Given the description of an element on the screen output the (x, y) to click on. 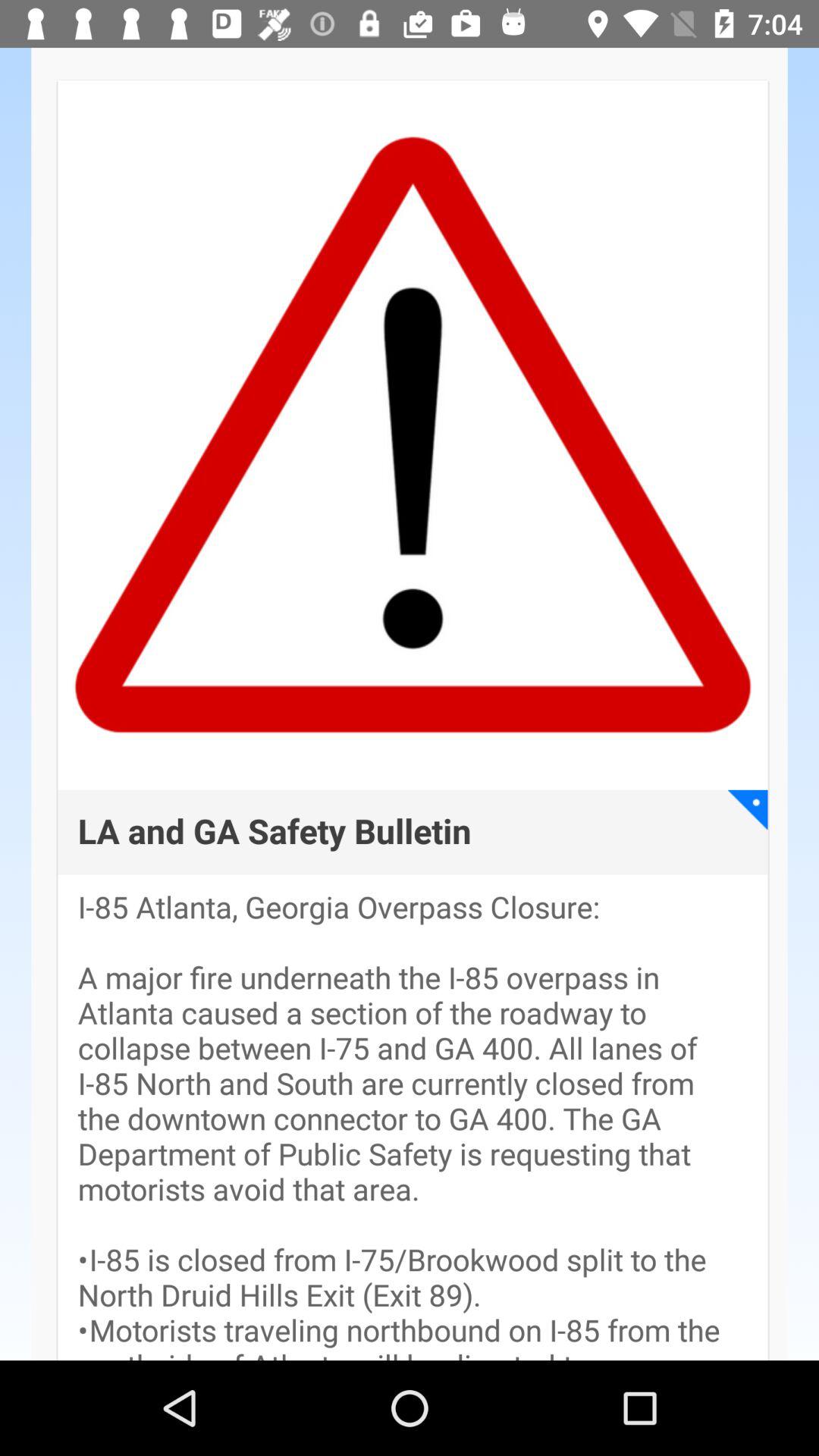
turn off la and ga app (274, 832)
